Given the description of an element on the screen output the (x, y) to click on. 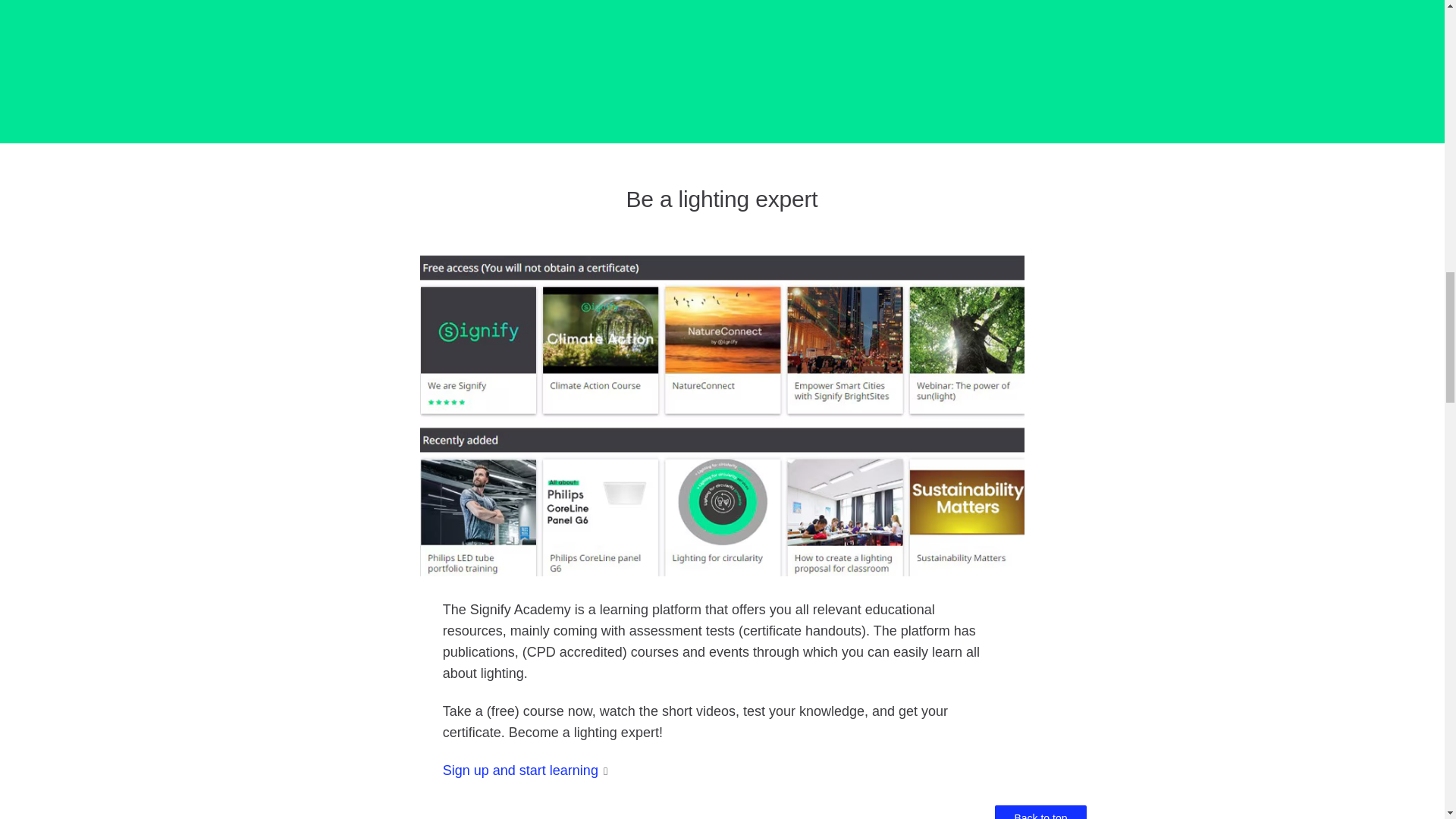
Back to top (1040, 812)
Sign up and start learning (520, 770)
Back to top (1040, 812)
